Given the description of an element on the screen output the (x, y) to click on. 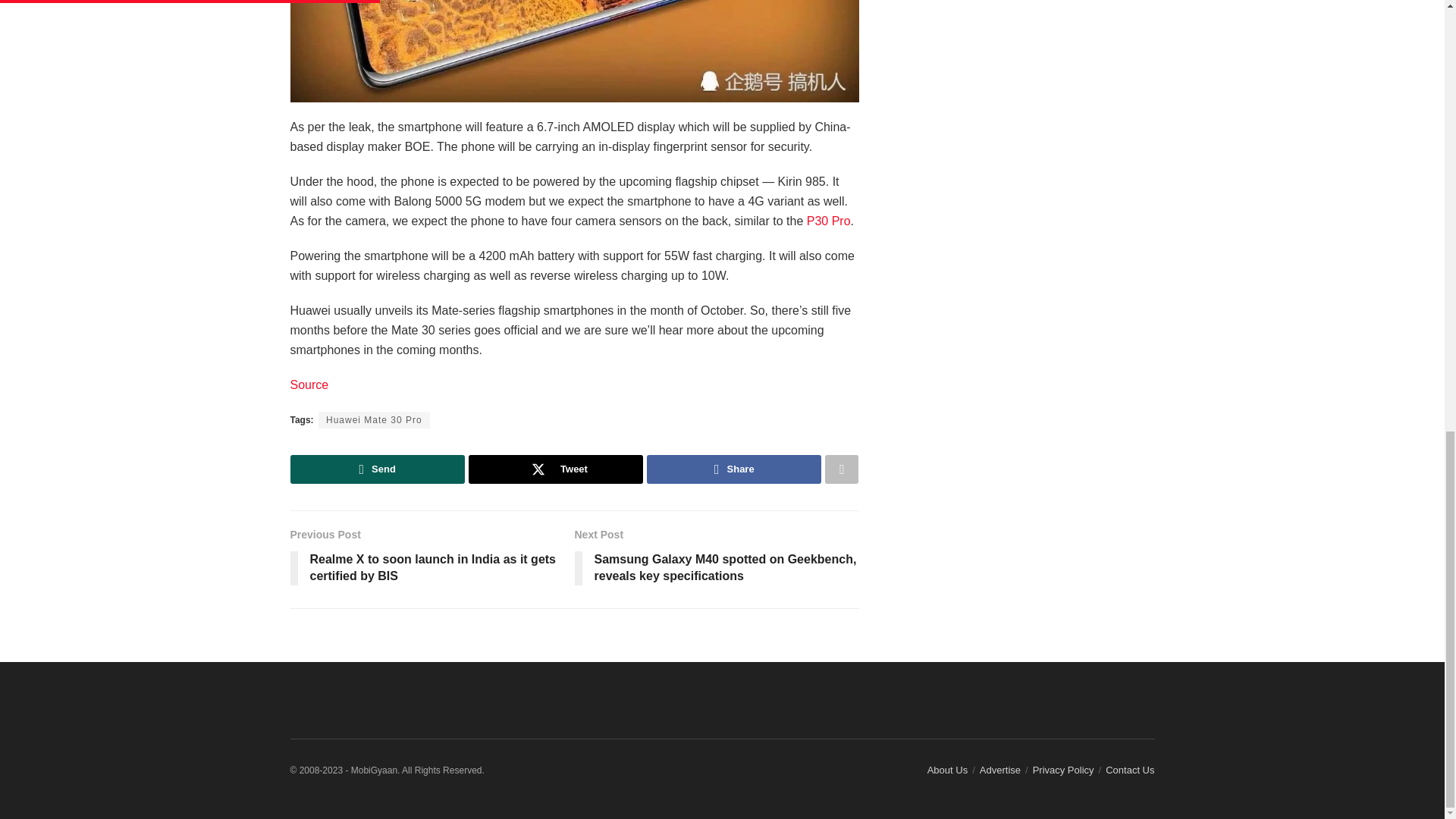
Tweet (555, 469)
Send (376, 469)
Huawei Mate 30 Pro (373, 419)
Source (309, 384)
P30 Pro (828, 220)
Share (733, 469)
